Given the description of an element on the screen output the (x, y) to click on. 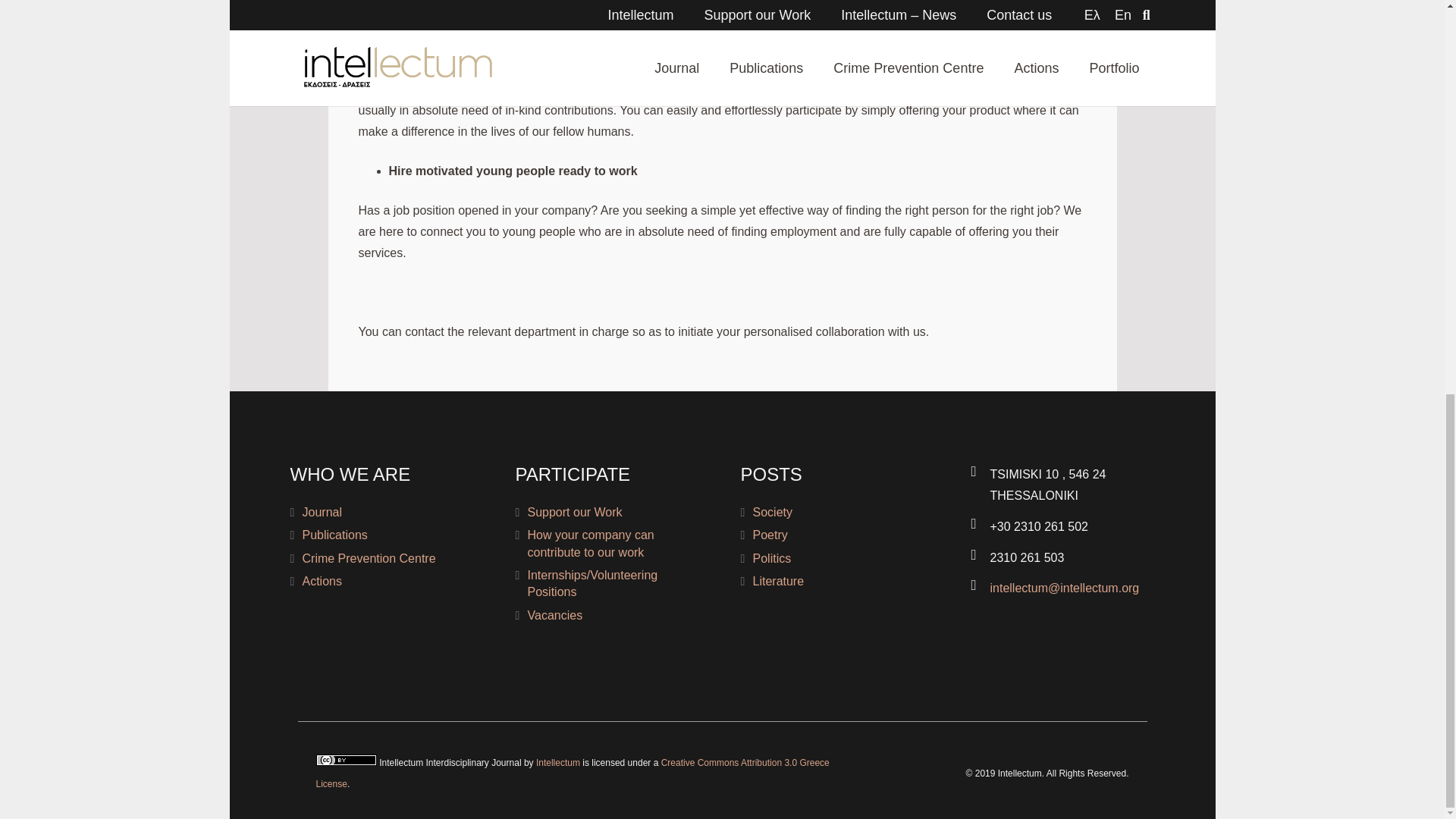
Back to top (1413, 89)
Publications (333, 534)
Journal (320, 512)
